Given the description of an element on the screen output the (x, y) to click on. 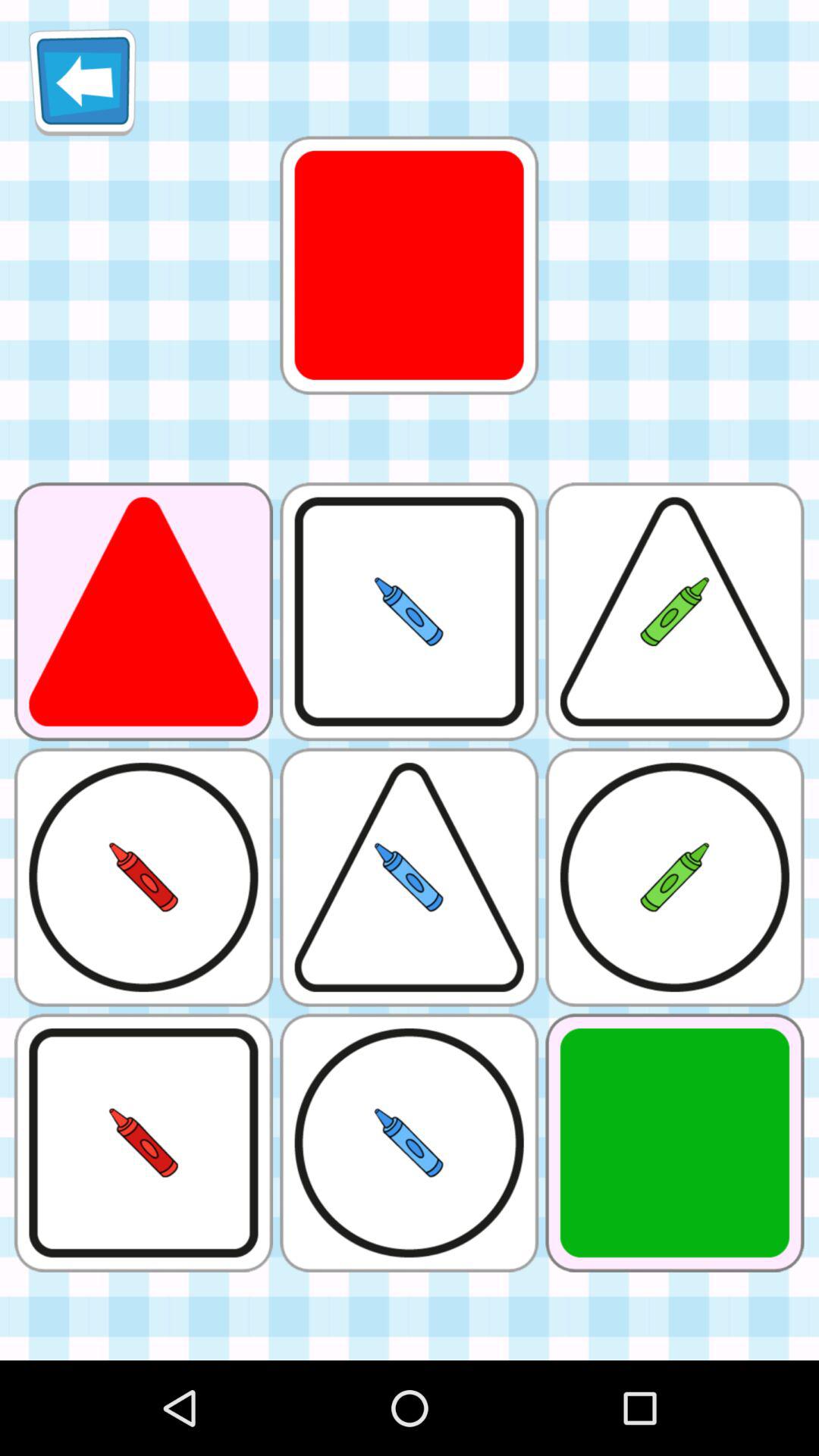
go to arrow (82, 82)
